Given the description of an element on the screen output the (x, y) to click on. 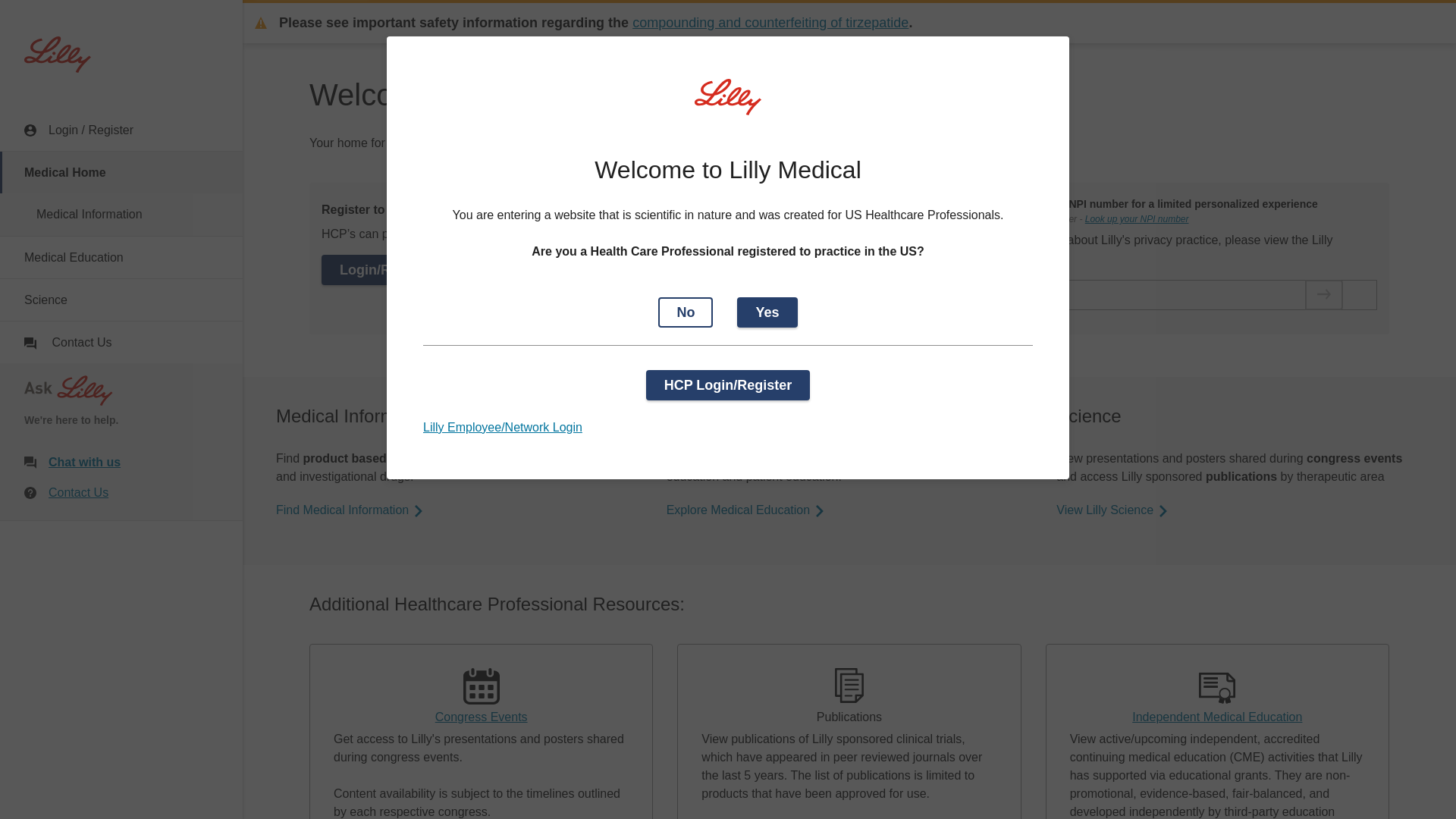
Lilly (57, 54)
Explore Medical Education (745, 509)
compounding and counterfeiting of tirzepatide (769, 22)
Question (30, 492)
Lilly (57, 54)
Warning (260, 22)
Chat (30, 462)
Medical Home (121, 172)
privacy statement (999, 258)
Medical Education (121, 257)
